Given the description of an element on the screen output the (x, y) to click on. 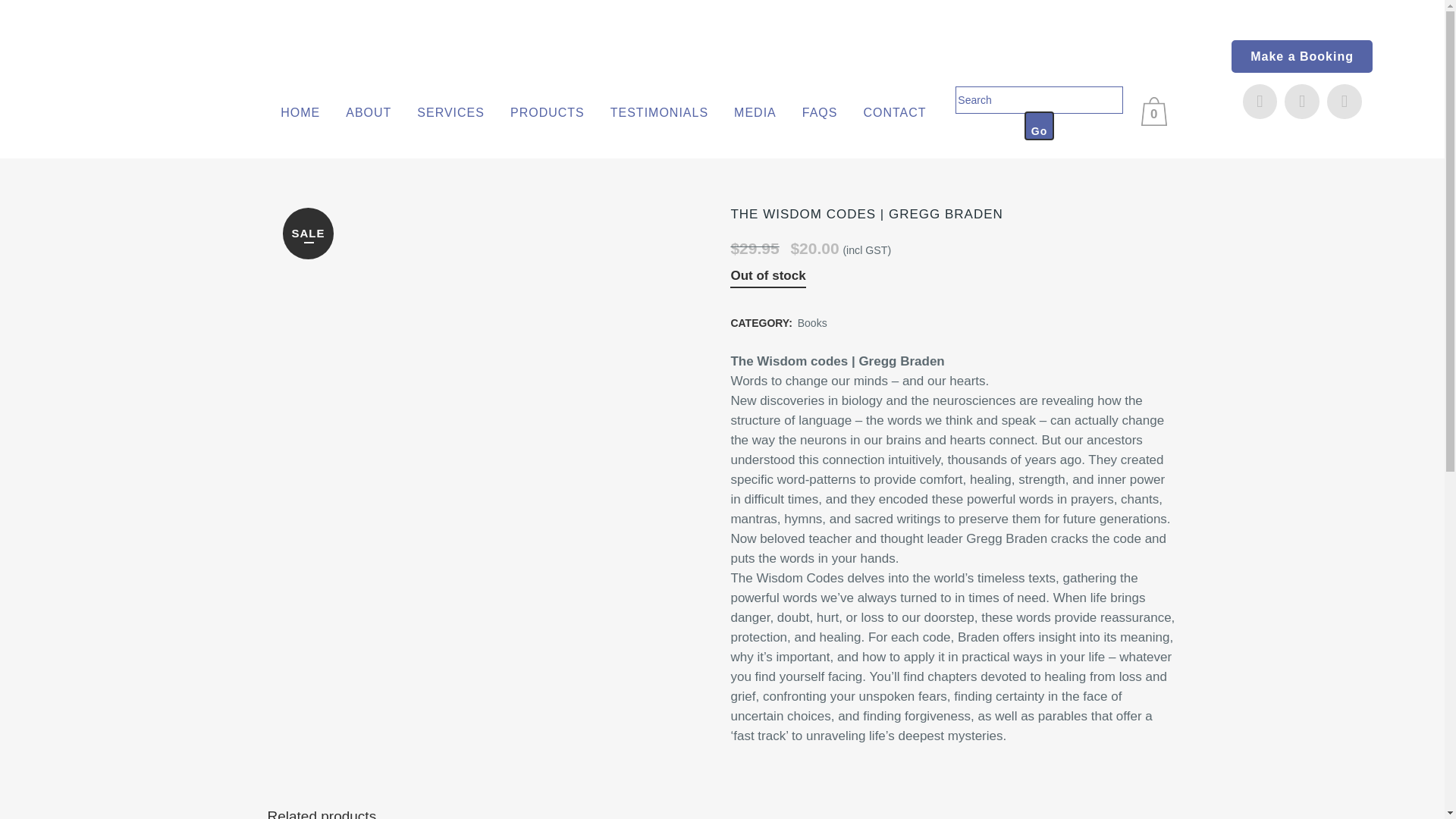
SERVICES (450, 112)
FAQS (819, 112)
MEDIA (754, 112)
Go (1039, 124)
CONTACT (894, 112)
0 (1157, 111)
Go (1039, 124)
TESTIMONIALS (658, 112)
Make a Booking (1302, 56)
PRODUCTS (546, 112)
